Given the description of an element on the screen output the (x, y) to click on. 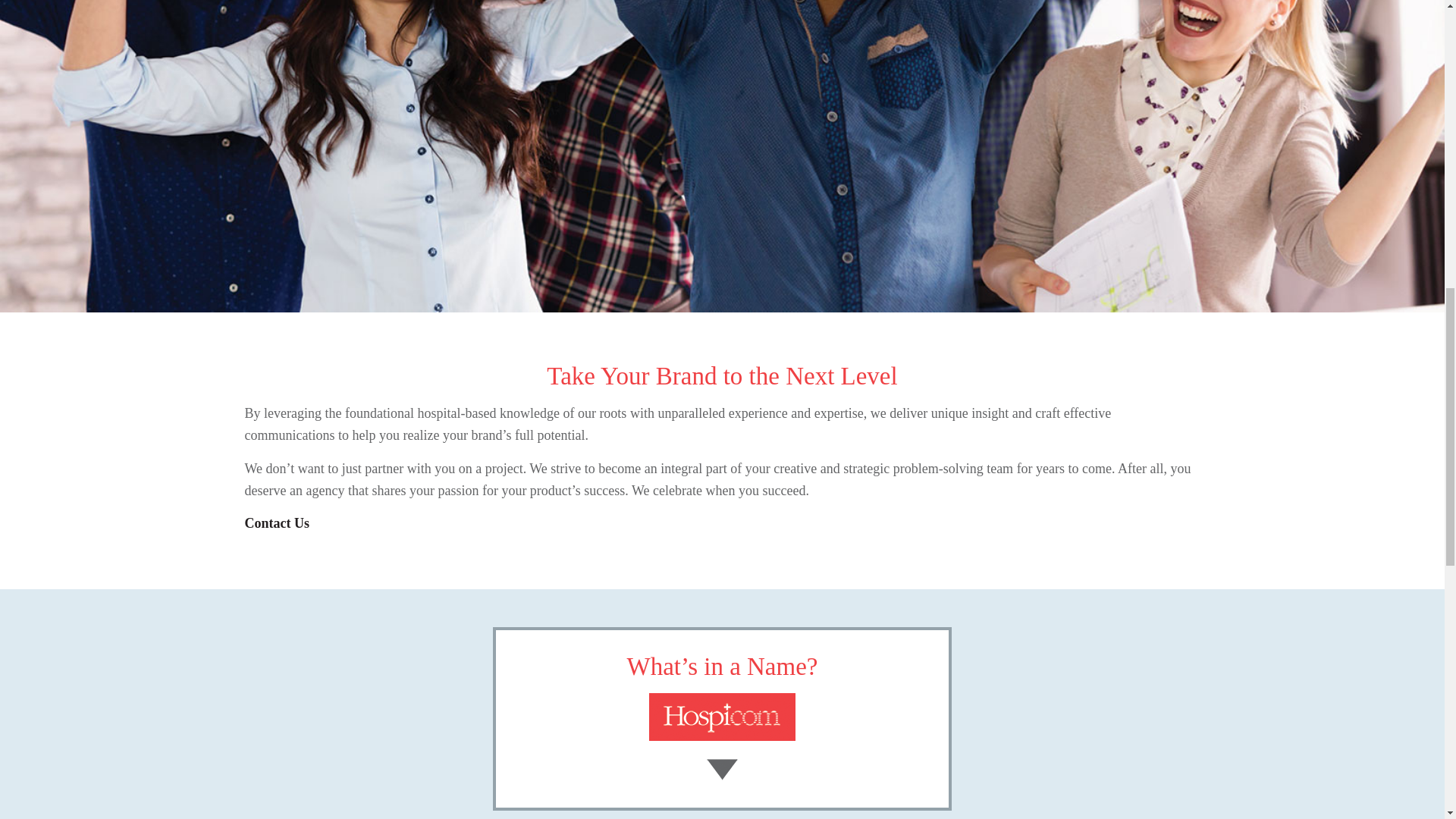
Contact Us (276, 522)
